Given the description of an element on the screen output the (x, y) to click on. 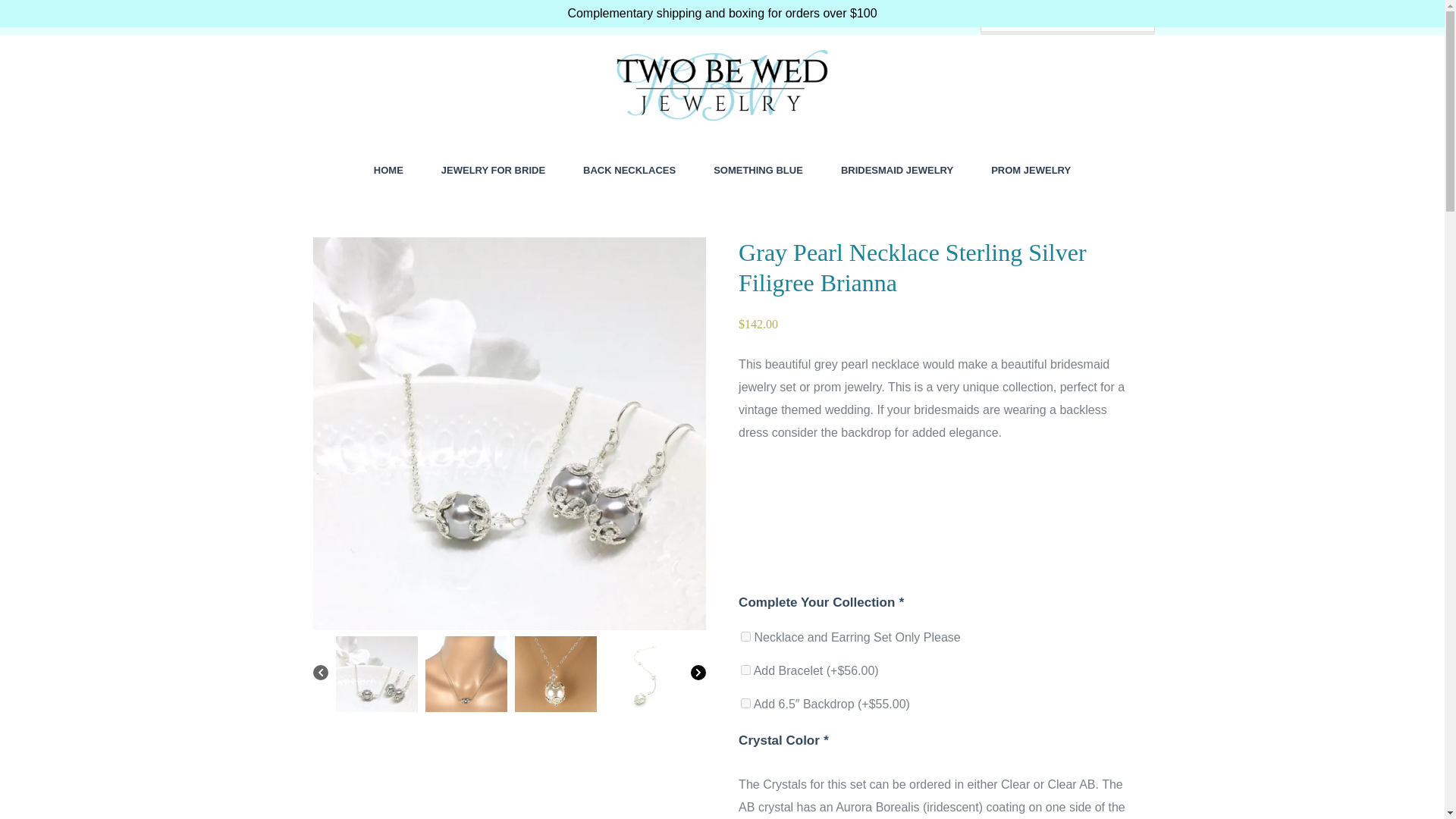
necklace-and-earring-set-only-please (746, 636)
pinterest (355, 14)
add-bracelet (746, 669)
Wedding Dress Back Jewelry Brianna (644, 677)
Two Be Wed Jewelry (400, 145)
BRIDESMAID JEWELRY (897, 169)
HOME (388, 169)
add-6-5-backdrop (746, 703)
SOMETHING BLUE (758, 169)
Grey Jewelry Filigree Necklace and Earrings (375, 677)
